Given the description of an element on the screen output the (x, y) to click on. 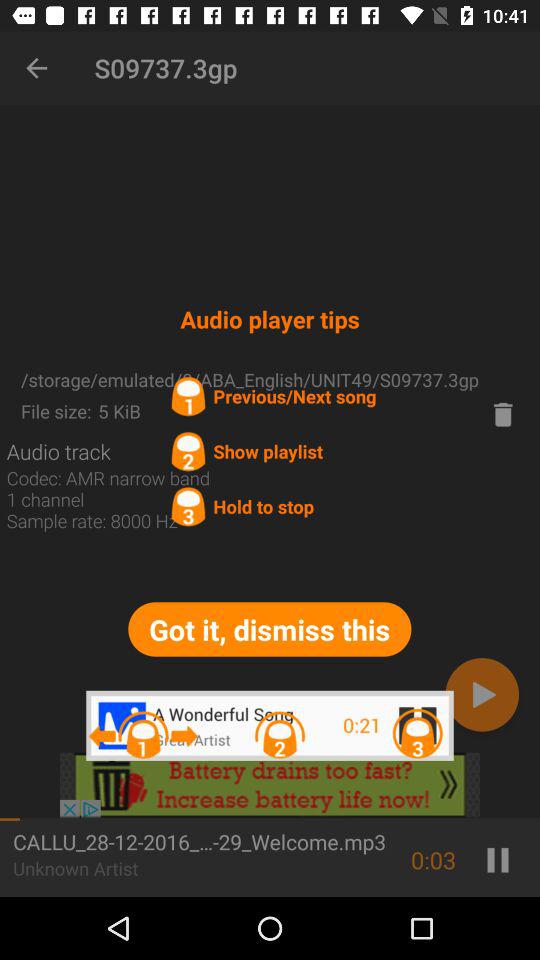
play next button (482, 694)
